Given the description of an element on the screen output the (x, y) to click on. 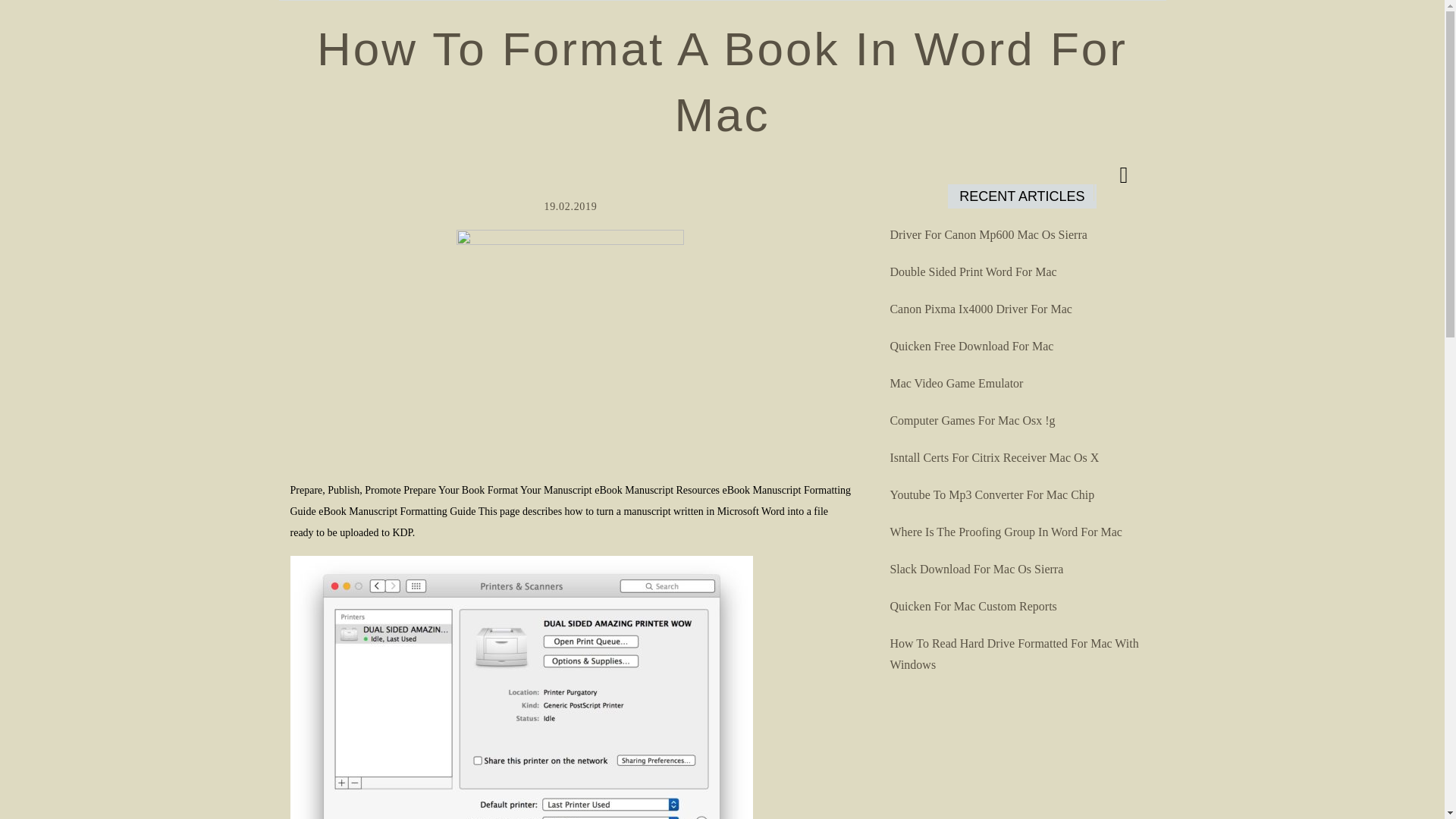
Search (797, 41)
Where Is The Proofing Group In Word For Mac (1005, 531)
Canon Pixma Ix4000 Driver For Mac (980, 308)
Driver For Canon Mp600 Mac Os Sierra (987, 234)
How To Read Hard Drive Formatted For Mac With Windows (1013, 653)
Double Sided Print Word For Mac (973, 271)
Book (520, 687)
Computer Games For Mac Osx !g (971, 420)
Quicken For Mac Custom Reports (973, 605)
Isntall Certs For Citrix Receiver Mac Os X (994, 457)
